Given the description of an element on the screen output the (x, y) to click on. 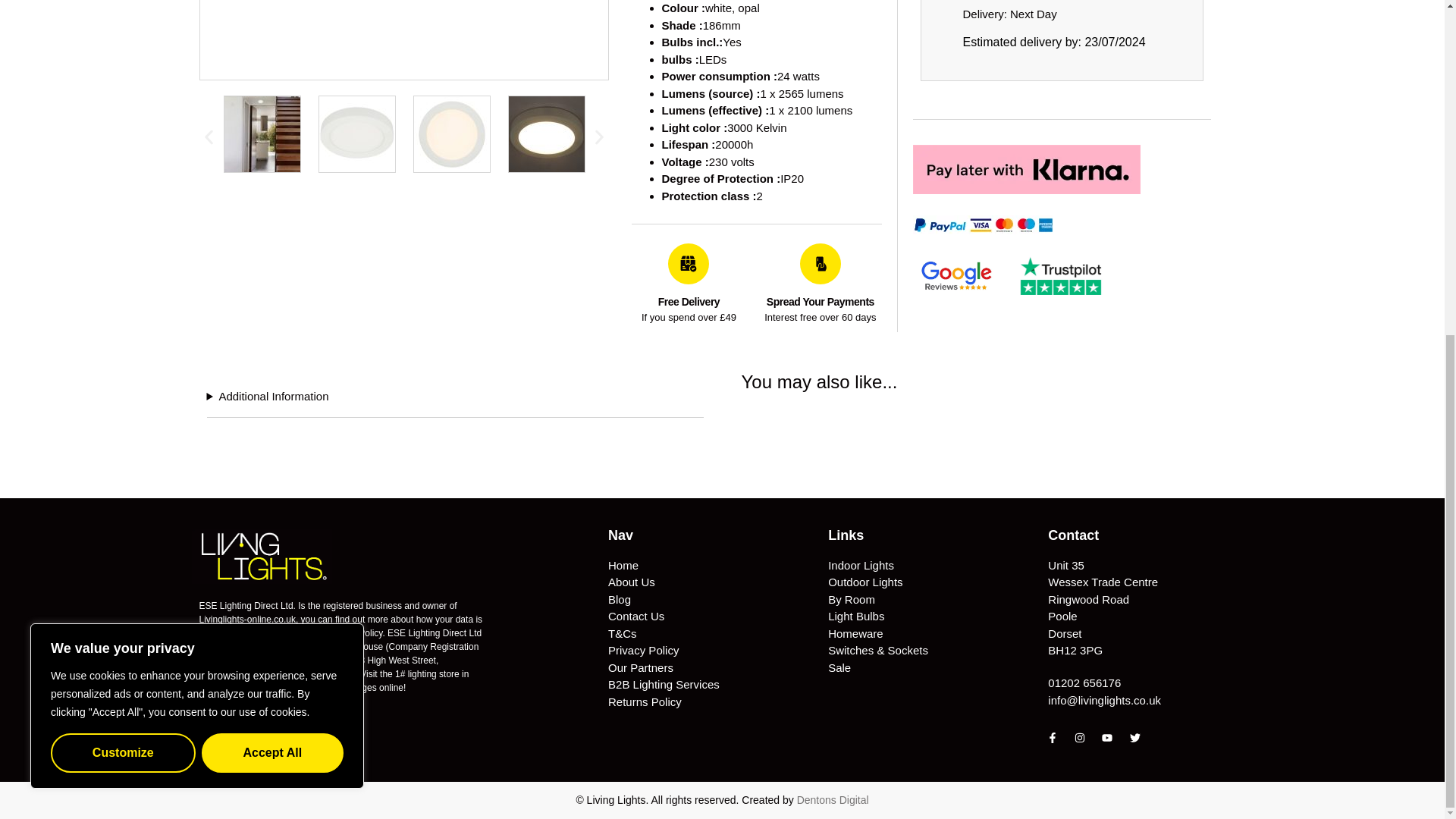
Accept All (272, 190)
Customize (122, 190)
